Given the description of an element on the screen output the (x, y) to click on. 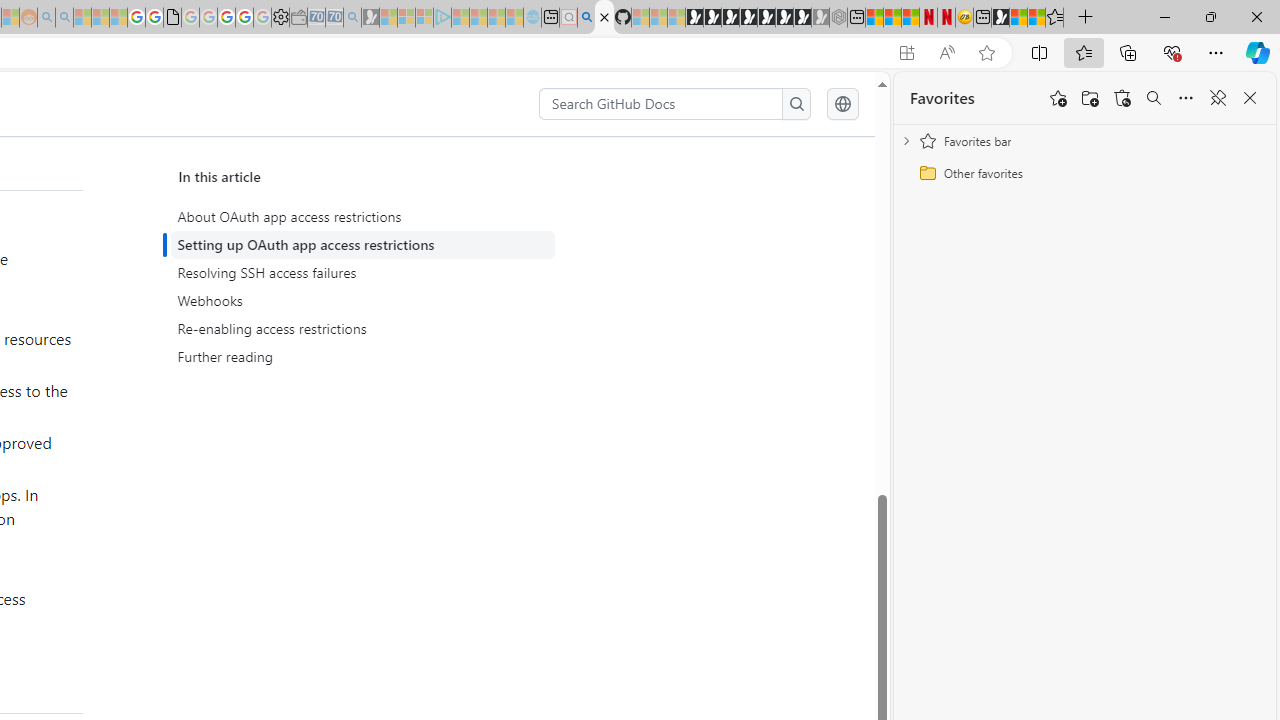
About OAuth app access restrictions (362, 217)
